Given the description of an element on the screen output the (x, y) to click on. 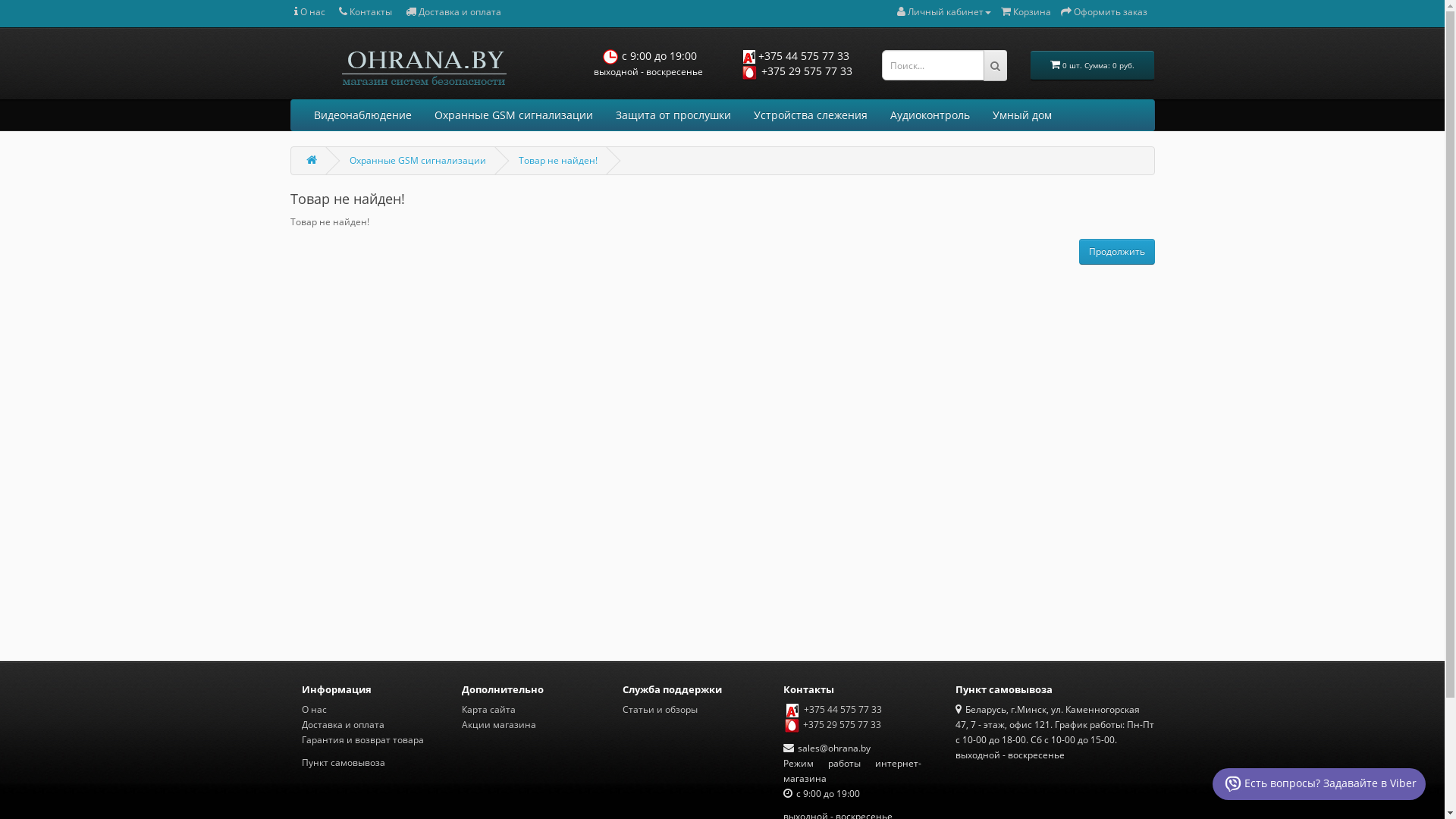
+375 29 575 77 33 Element type: text (806, 70)
+375 44 575 77 33 Element type: text (803, 55)
+375 44 575 77 33 Element type: text (842, 708)
+375 29 575 77 33 Element type: text (842, 724)
